Given the description of an element on the screen output the (x, y) to click on. 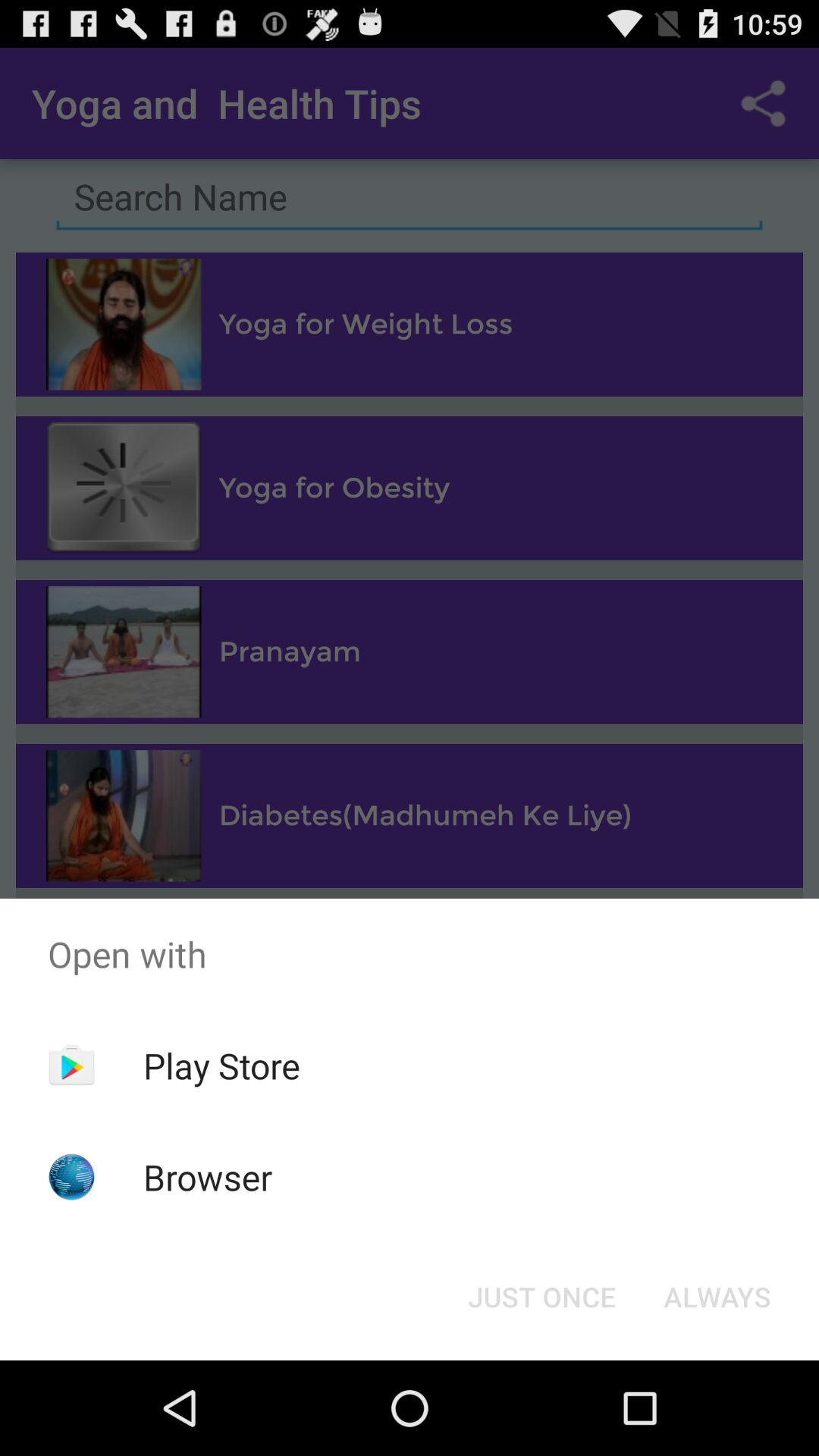
choose always (717, 1296)
